Given the description of an element on the screen output the (x, y) to click on. 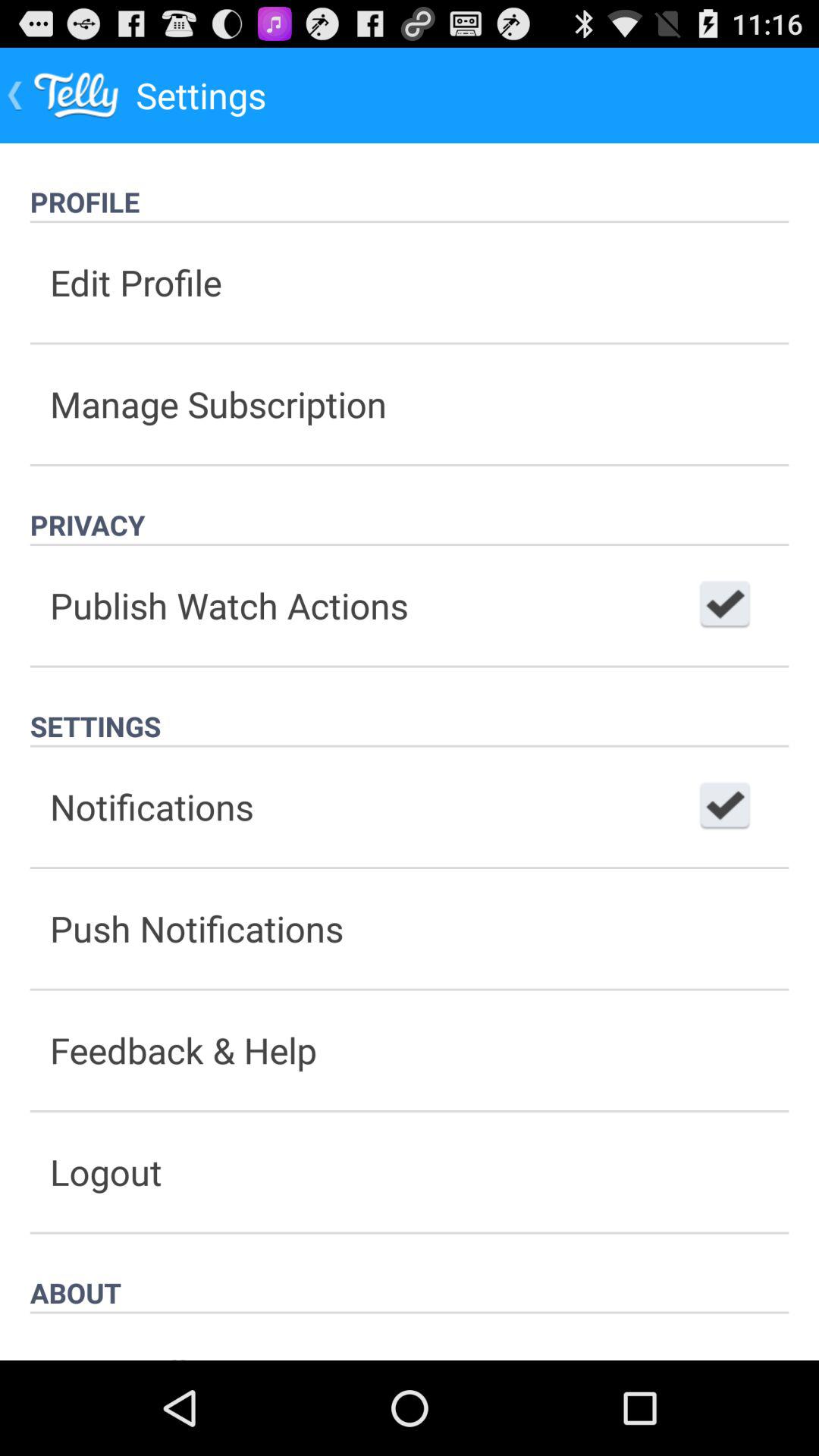
tap push notifications icon (409, 928)
